Given the description of an element on the screen output the (x, y) to click on. 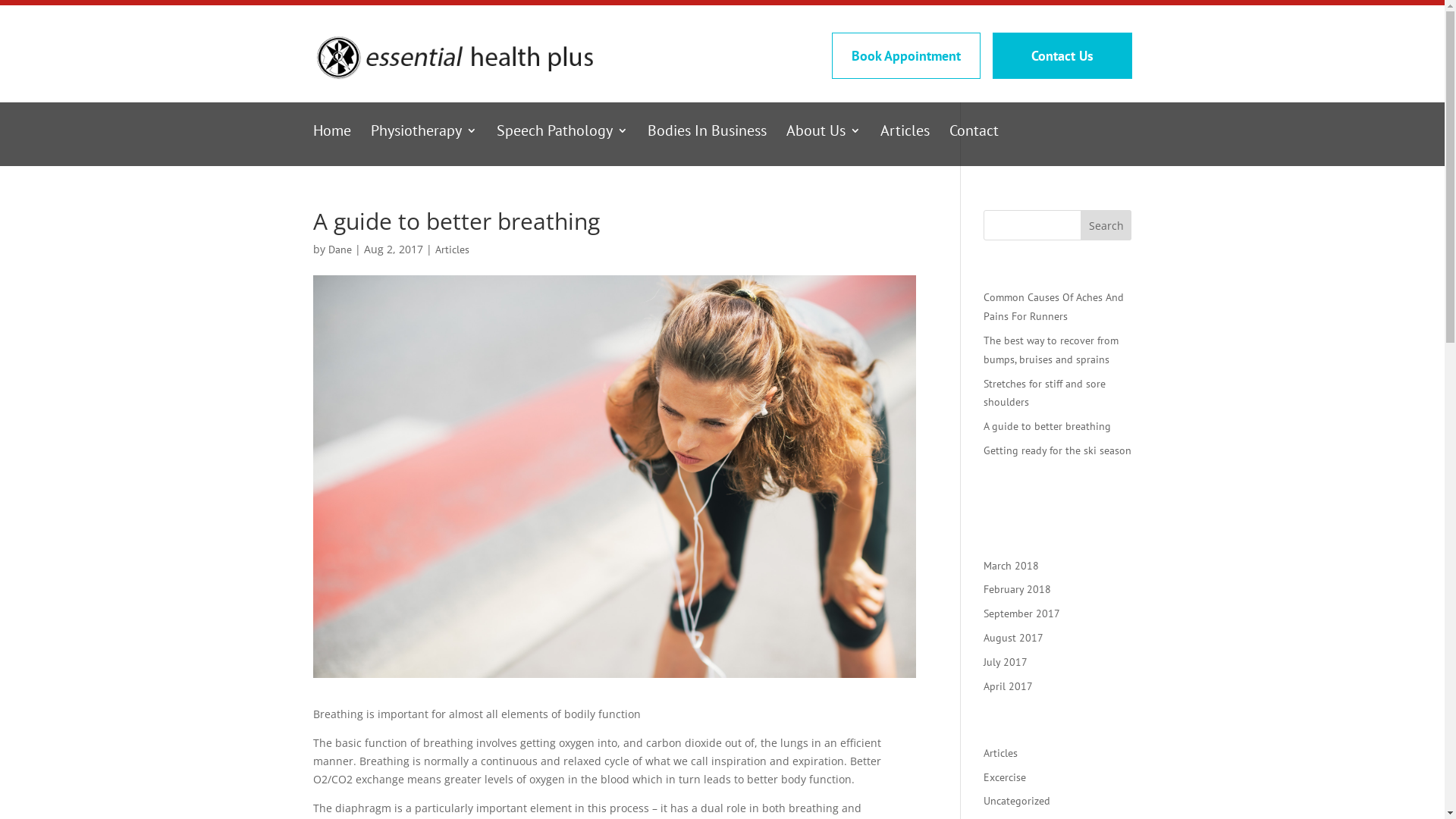
Search Element type: text (1106, 225)
Articles Element type: text (452, 249)
Home Element type: text (331, 145)
Common Causes Of Aches And Pains For Runners Element type: text (1053, 306)
Book Appointment Element type: text (905, 55)
The best way to recover from bumps, bruises and sprains Element type: text (1050, 349)
March 2018 Element type: text (1010, 565)
Contact Element type: text (973, 145)
Stretches for stiff and sore shoulders Element type: text (1044, 392)
Uncategorized Element type: text (1016, 800)
Articles Element type: text (903, 145)
Dane Element type: text (339, 249)
February 2018 Element type: text (1017, 589)
September 2017 Element type: text (1021, 613)
Bodies In Business Element type: text (706, 145)
Physiotherapy Element type: text (423, 145)
Contact Us Element type: text (1061, 55)
A guide to better breathing Element type: text (1046, 426)
August 2017 Element type: text (1013, 637)
Articles Element type: text (1000, 752)
Excercise Element type: text (1004, 777)
About Us Element type: text (822, 145)
Speech Pathology Element type: text (561, 145)
July 2017 Element type: text (1005, 661)
April 2017 Element type: text (1007, 686)
Getting ready for the ski season Element type: text (1057, 450)
